Given the description of an element on the screen output the (x, y) to click on. 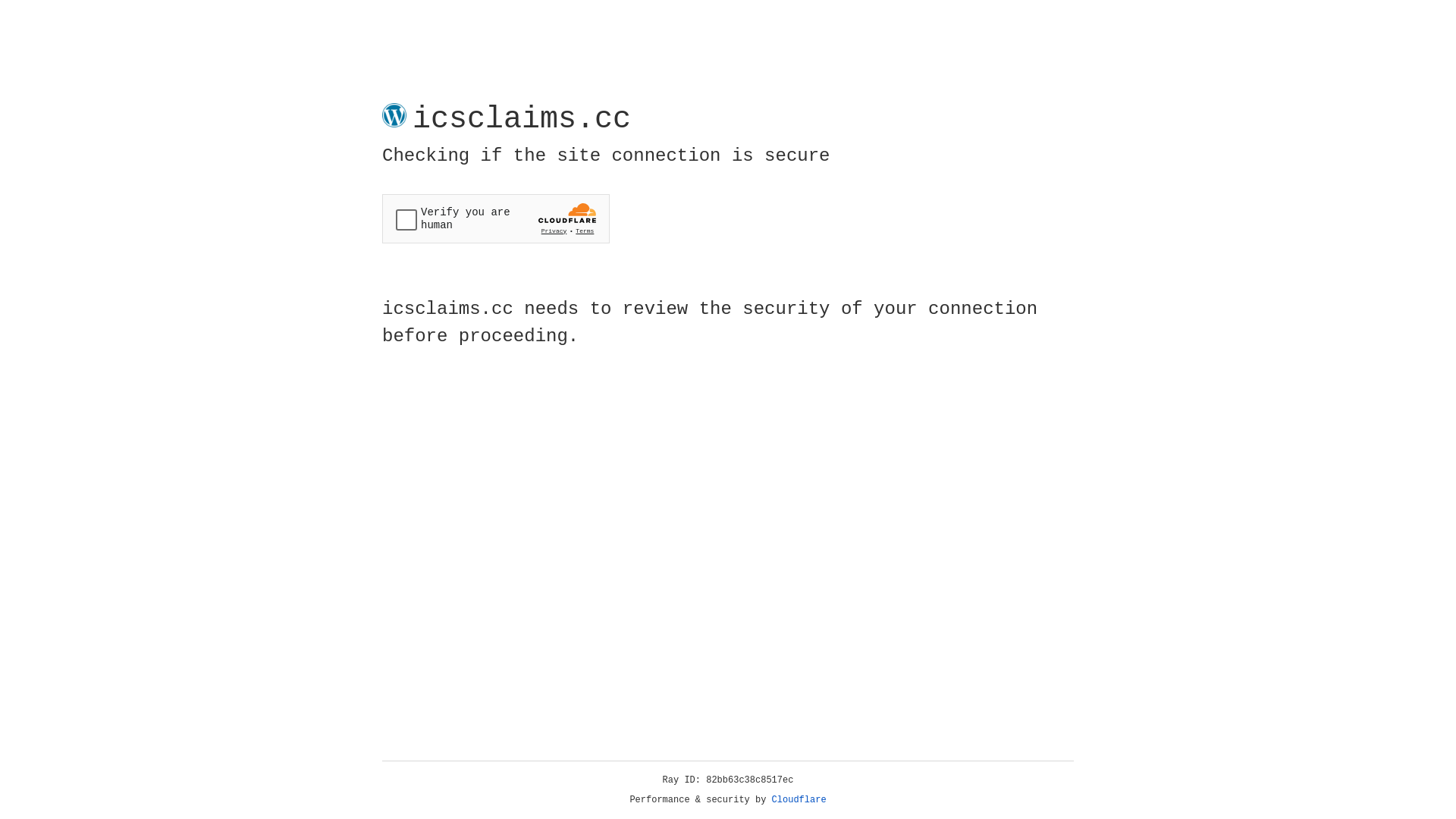
Widget containing a Cloudflare security challenge Element type: hover (495, 218)
Cloudflare Element type: text (798, 799)
